Given the description of an element on the screen output the (x, y) to click on. 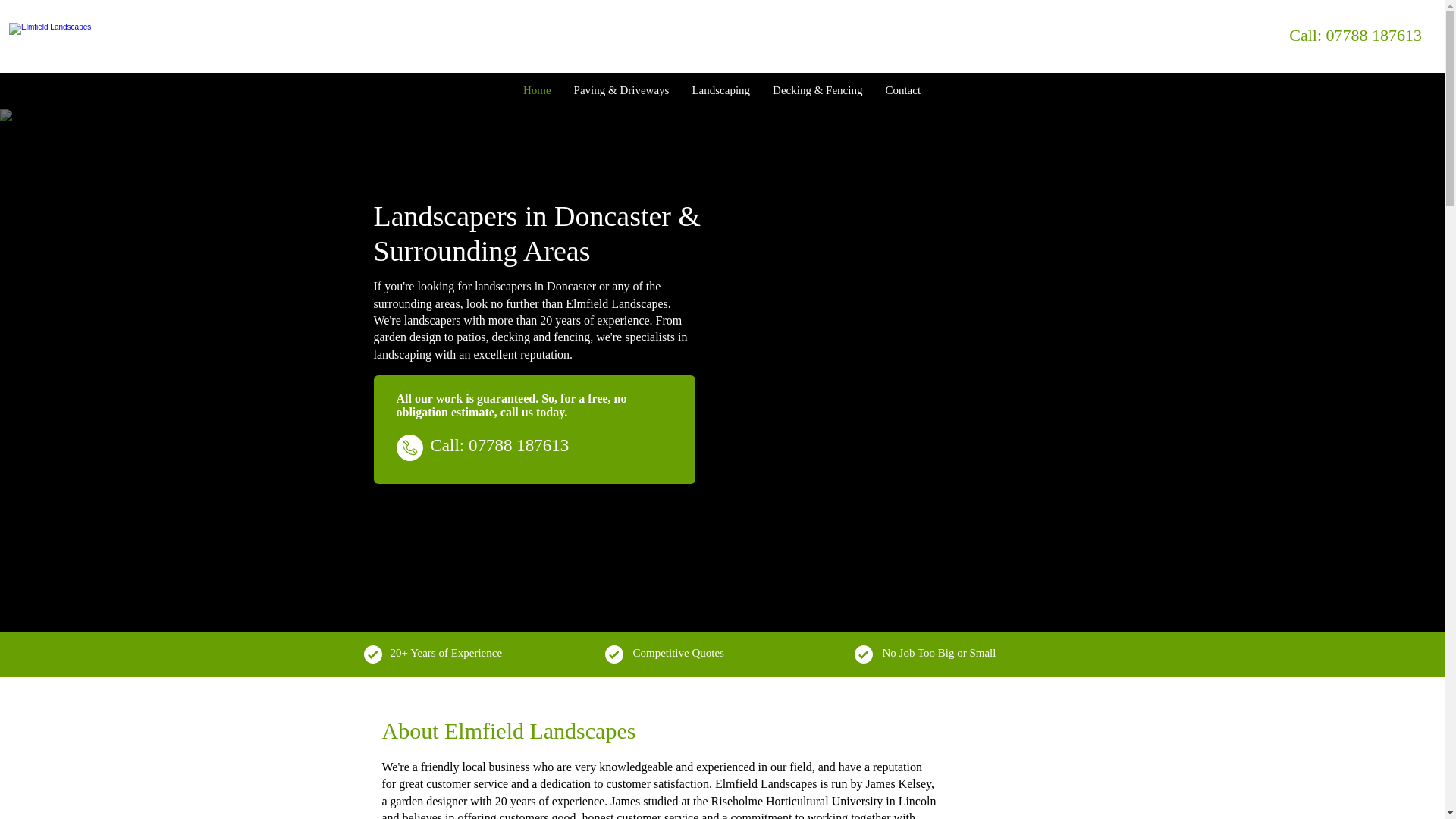
Landscaping (720, 90)
Call: 07788 187613 (499, 445)
Home (537, 90)
Call: 07788 187613 (1355, 35)
Contact (902, 90)
